Given the description of an element on the screen output the (x, y) to click on. 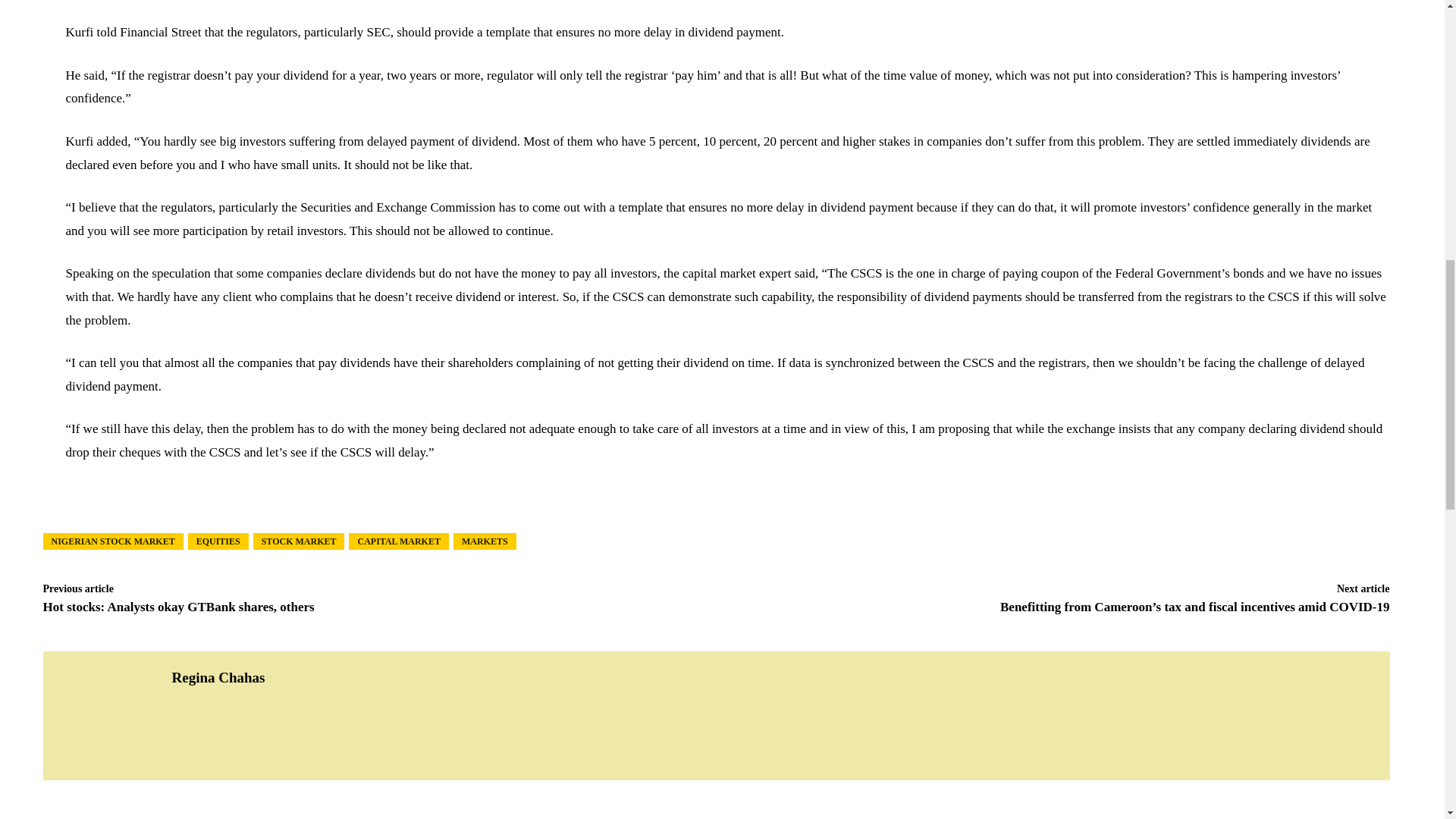
EQUITIES (217, 540)
NIGERIAN STOCK MARKET (112, 540)
